Given the description of an element on the screen output the (x, y) to click on. 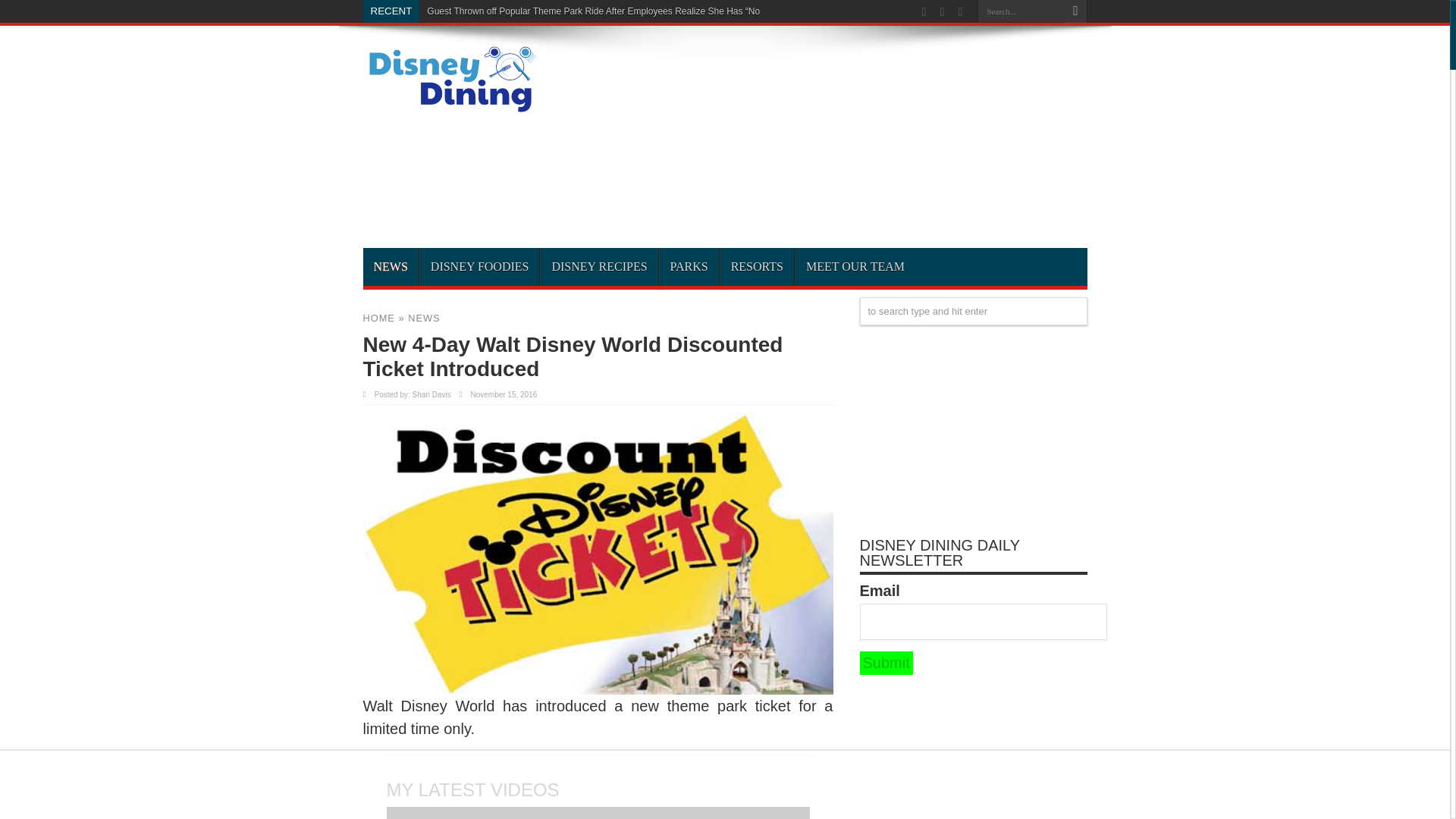
Search (1075, 11)
RESORTS (756, 266)
NEWS (389, 266)
Search... (1020, 11)
PARKS (689, 266)
DISNEY RECIPES (599, 266)
MEET OUR TEAM (854, 266)
Shari Davis (431, 394)
NEWS (423, 317)
HOME (378, 317)
DISNEY FOODIES (479, 266)
Submit (886, 662)
to search type and hit enter (973, 311)
Disney Dining (448, 107)
